Given the description of an element on the screen output the (x, y) to click on. 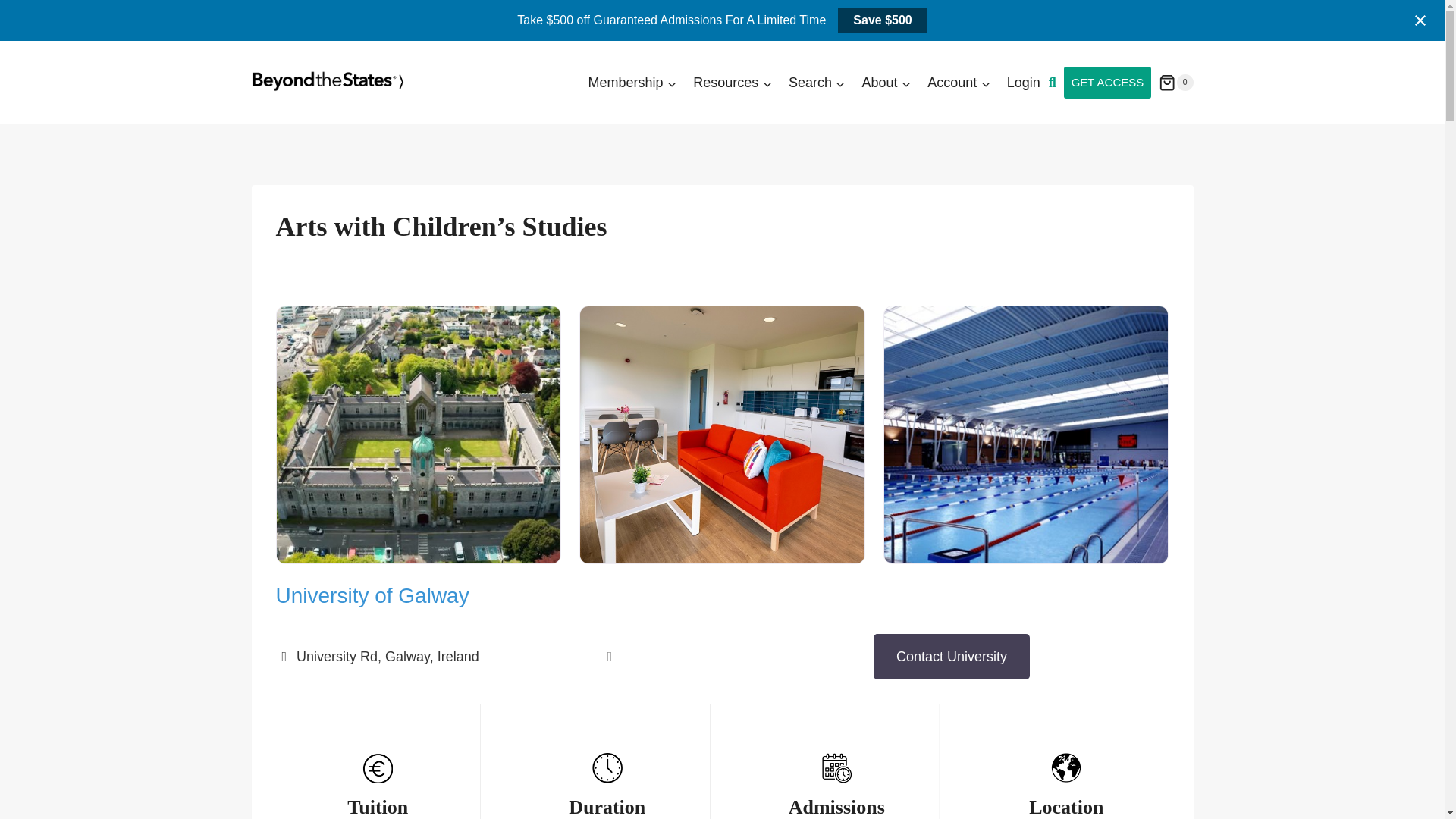
Membership (632, 82)
Search (816, 82)
Resources (732, 82)
